Given the description of an element on the screen output the (x, y) to click on. 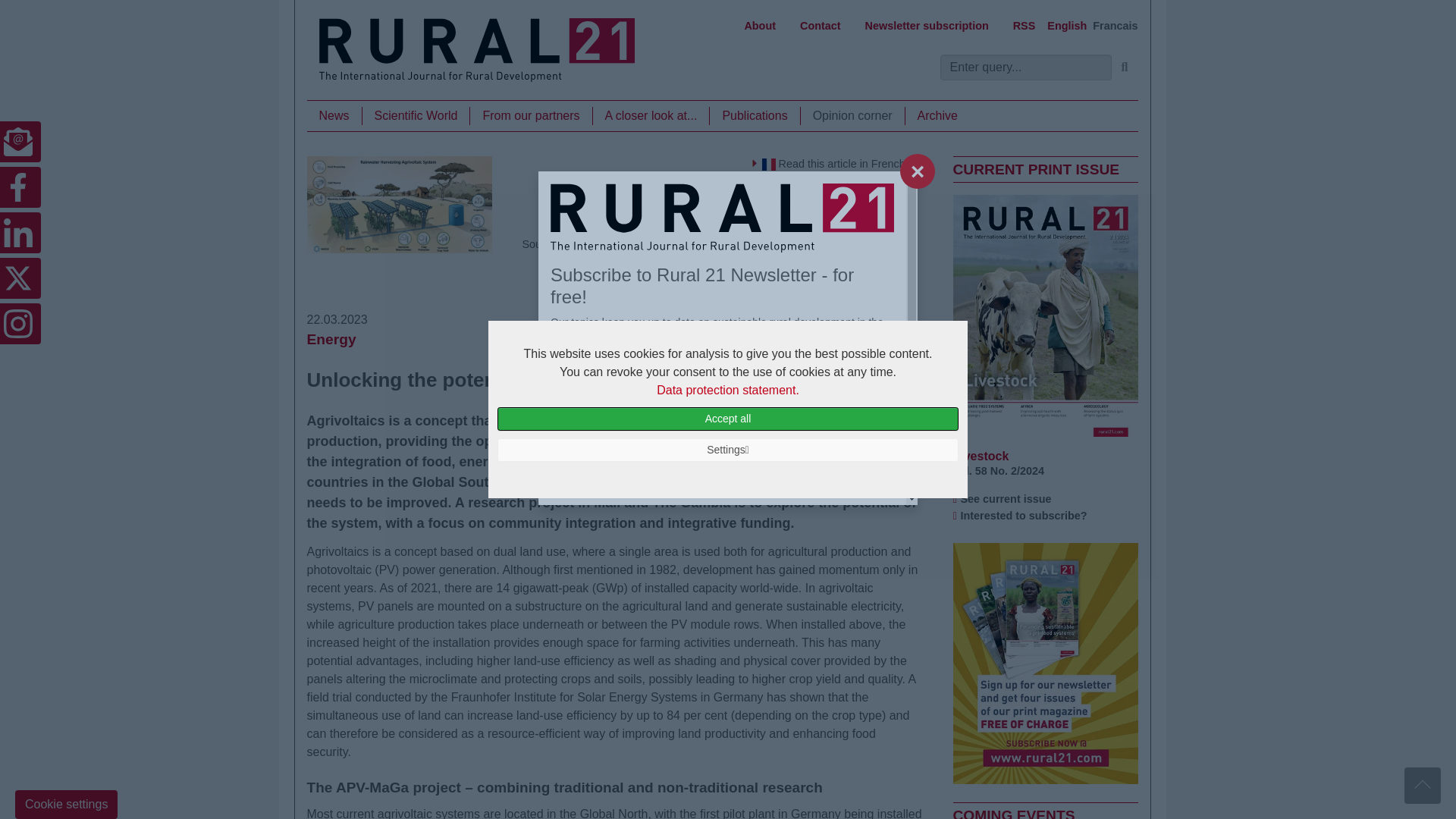
News (333, 116)
Newsletter subscription (927, 26)
Search (1125, 67)
RSS (1024, 26)
English (1066, 25)
Scientific World (416, 116)
Contact (820, 26)
From our partners (530, 116)
A closer look at... (651, 116)
A closer look at... (651, 116)
Scientific World (416, 116)
From our partners (530, 116)
News (333, 116)
About (759, 26)
RSS (1024, 26)
